Given the description of an element on the screen output the (x, y) to click on. 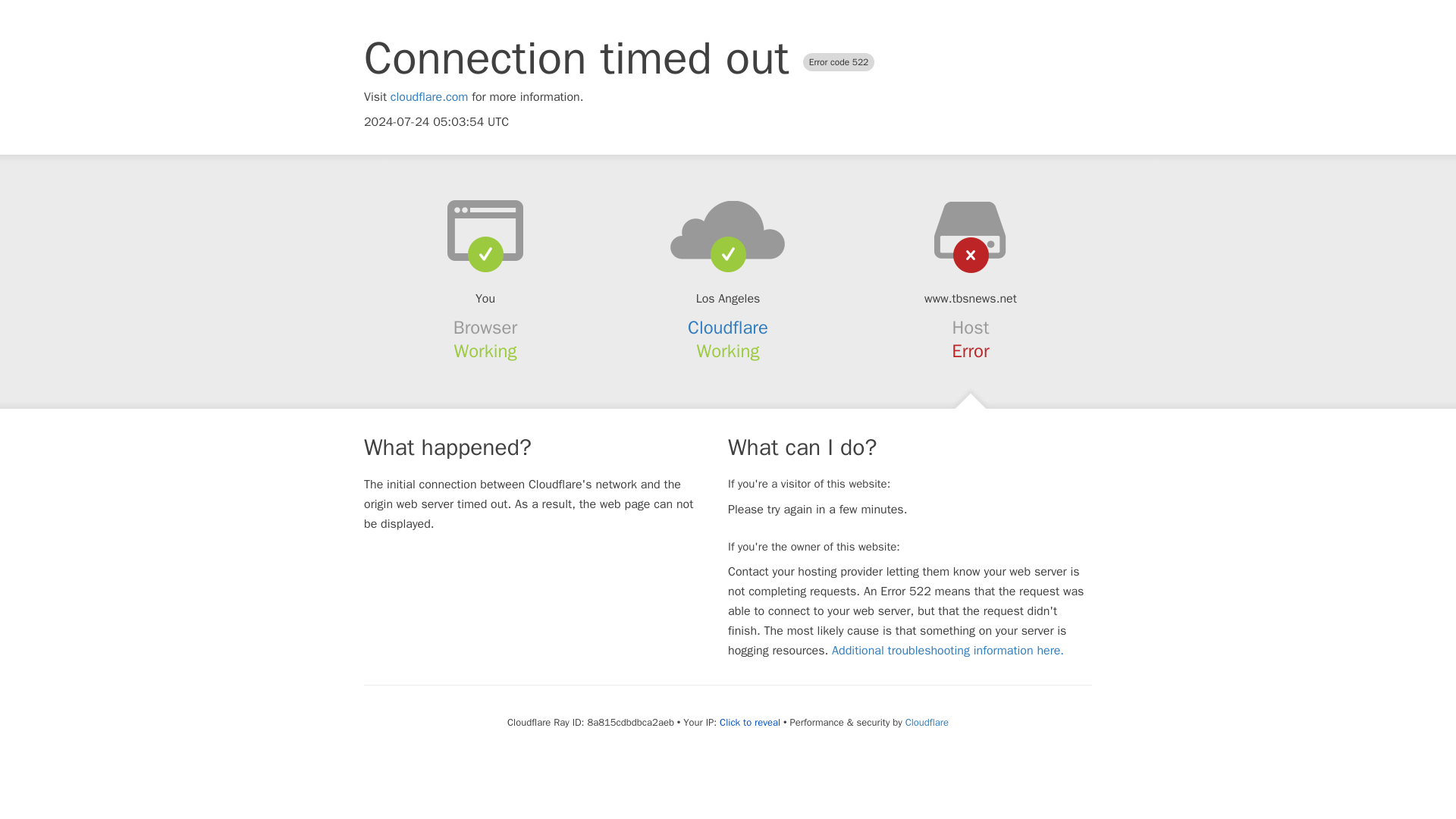
Cloudflare (927, 721)
Click to reveal (749, 722)
Cloudflare (727, 327)
Additional troubleshooting information here. (947, 650)
cloudflare.com (429, 96)
